Given the description of an element on the screen output the (x, y) to click on. 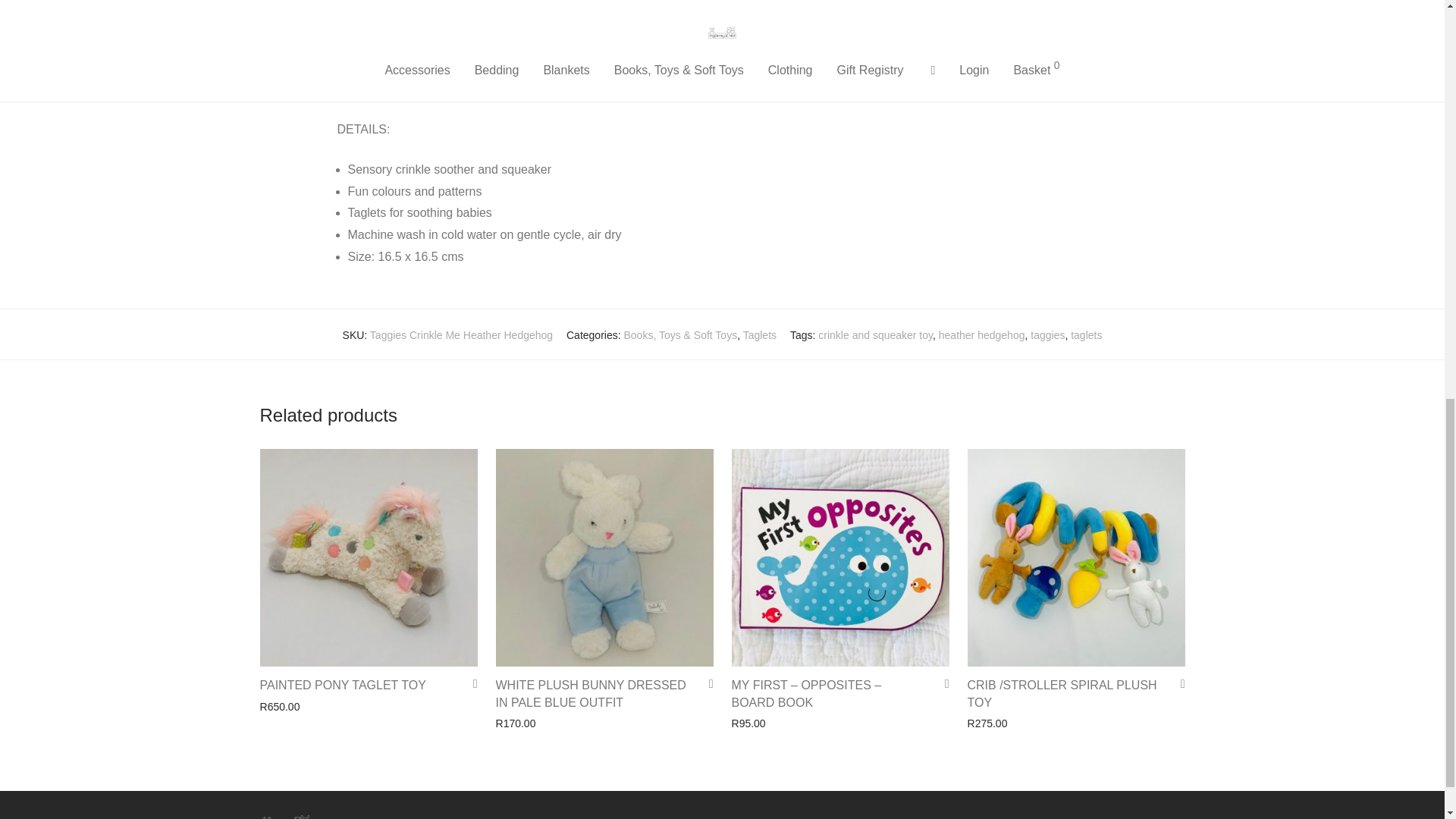
Add to Wishlist (1177, 683)
Add to Wishlist (705, 683)
Add to Wishlist (941, 683)
Add to Wishlist (470, 683)
